Given the description of an element on the screen output the (x, y) to click on. 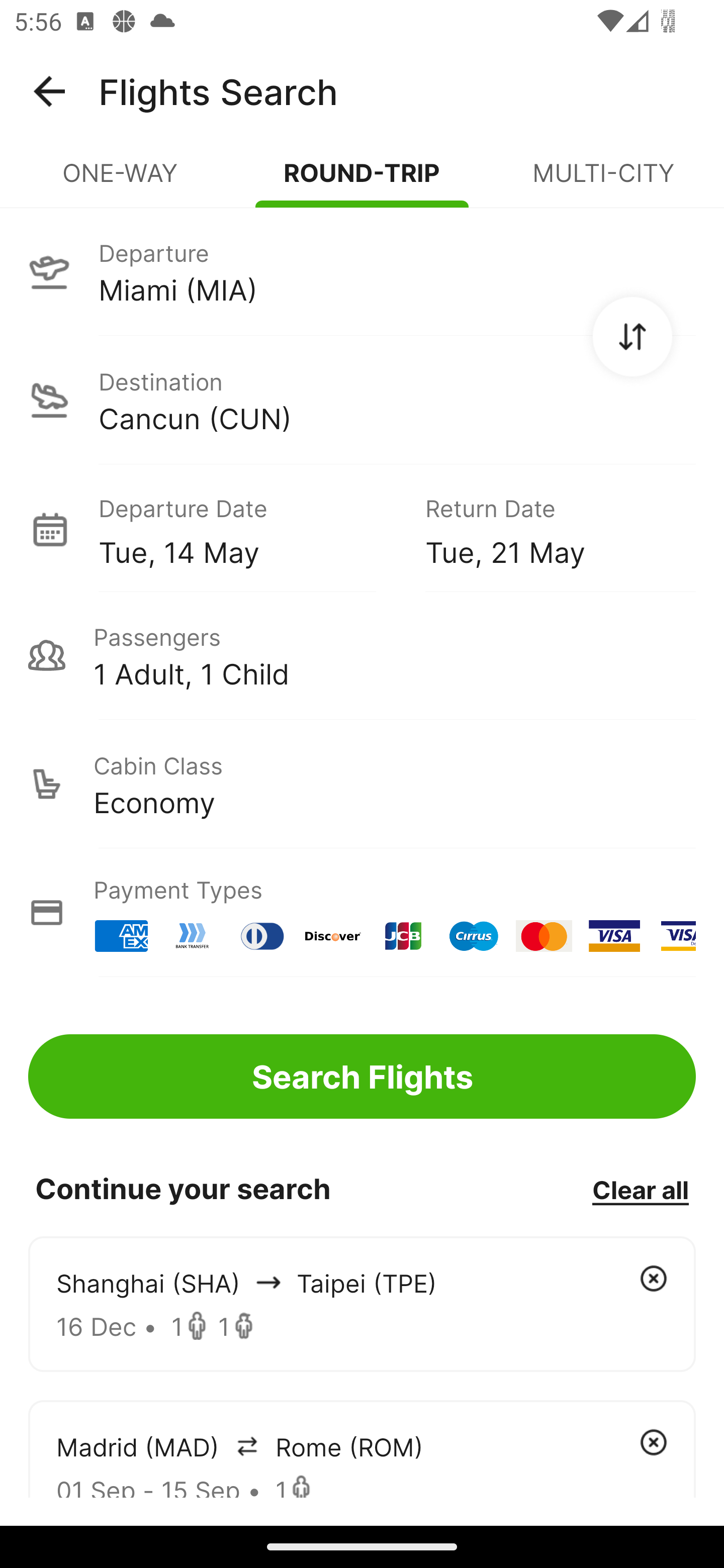
ONE-WAY (120, 180)
ROUND-TRIP (361, 180)
MULTI-CITY (603, 180)
Departure Miami (MIA) (362, 270)
Destination Cancun (CUN) (362, 400)
Departure Date Tue, 14 May (247, 528)
Return Date Tue, 21 May (546, 528)
Passengers 1 Adult, 1 Child (362, 655)
Cabin Class Economy (362, 783)
Payment Types (362, 912)
Search Flights (361, 1075)
Clear all (640, 1189)
